Given the description of an element on the screen output the (x, y) to click on. 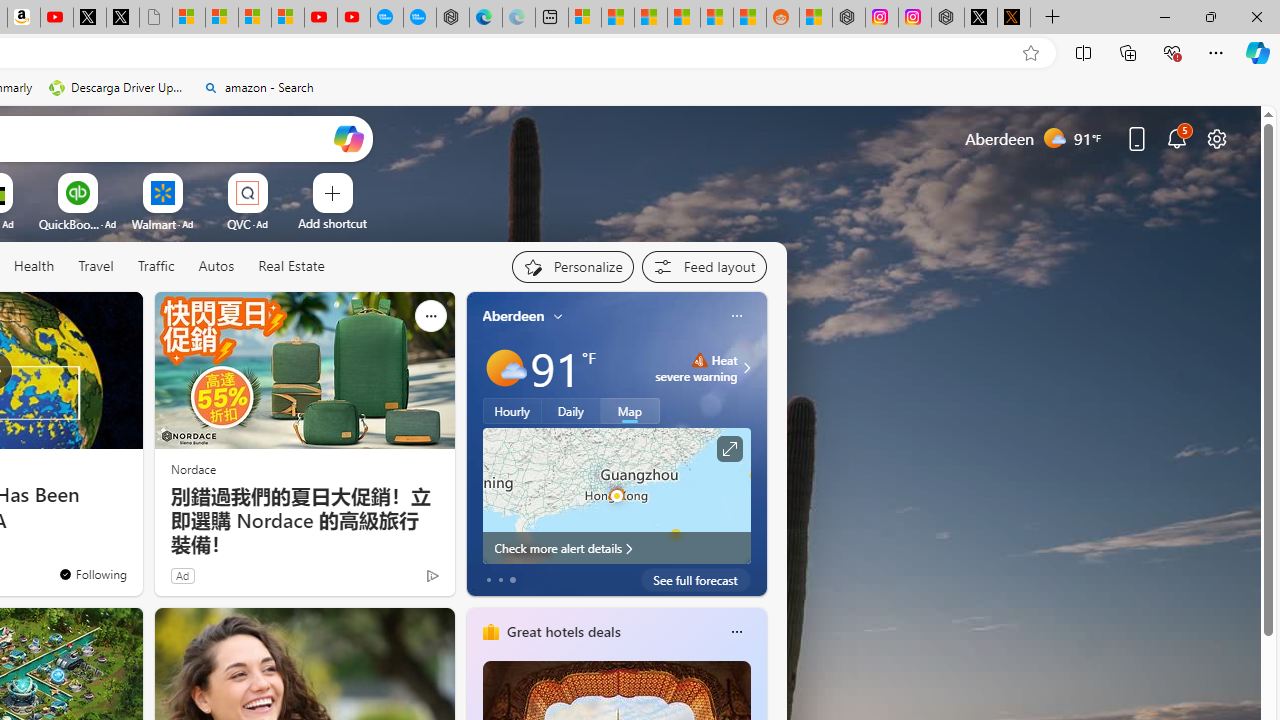
Check more alert details (616, 547)
Real Estate (290, 267)
Great hotels deals (562, 631)
help.x.com | 524: A timeout occurred (1014, 17)
Heat - Severe (699, 359)
Add a site (332, 223)
Daily (571, 411)
Health (34, 265)
Page settings (1216, 138)
